Given the description of an element on the screen output the (x, y) to click on. 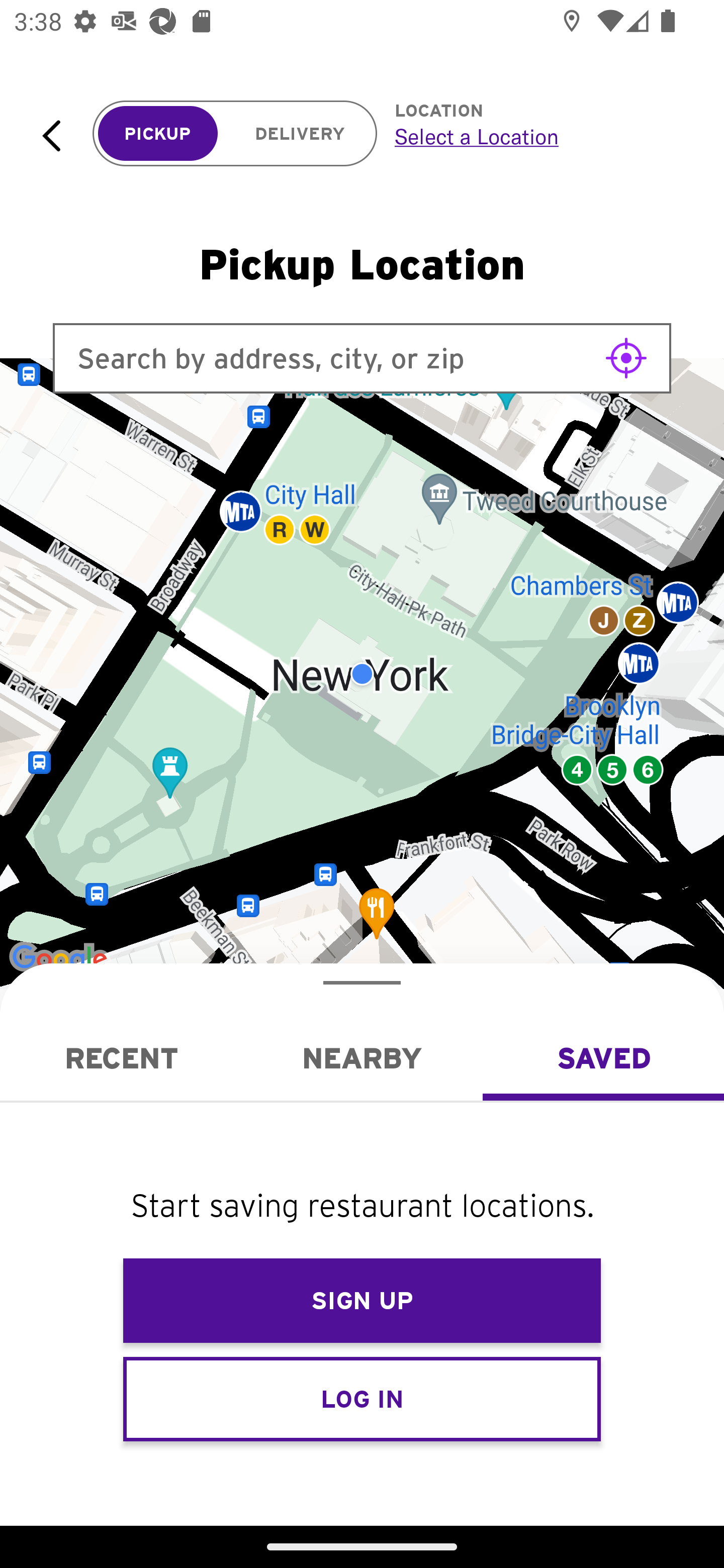
PICKUP (157, 133)
DELIVERY (299, 133)
Select a Location (536, 136)
Search by address, city, or zip (361, 358)
Google Map (362, 674)
Recent RECENT (120, 1058)
Nearby NEARBY (361, 1058)
SIGN UP (361, 1300)
LOG IN (361, 1398)
